Given the description of an element on the screen output the (x, y) to click on. 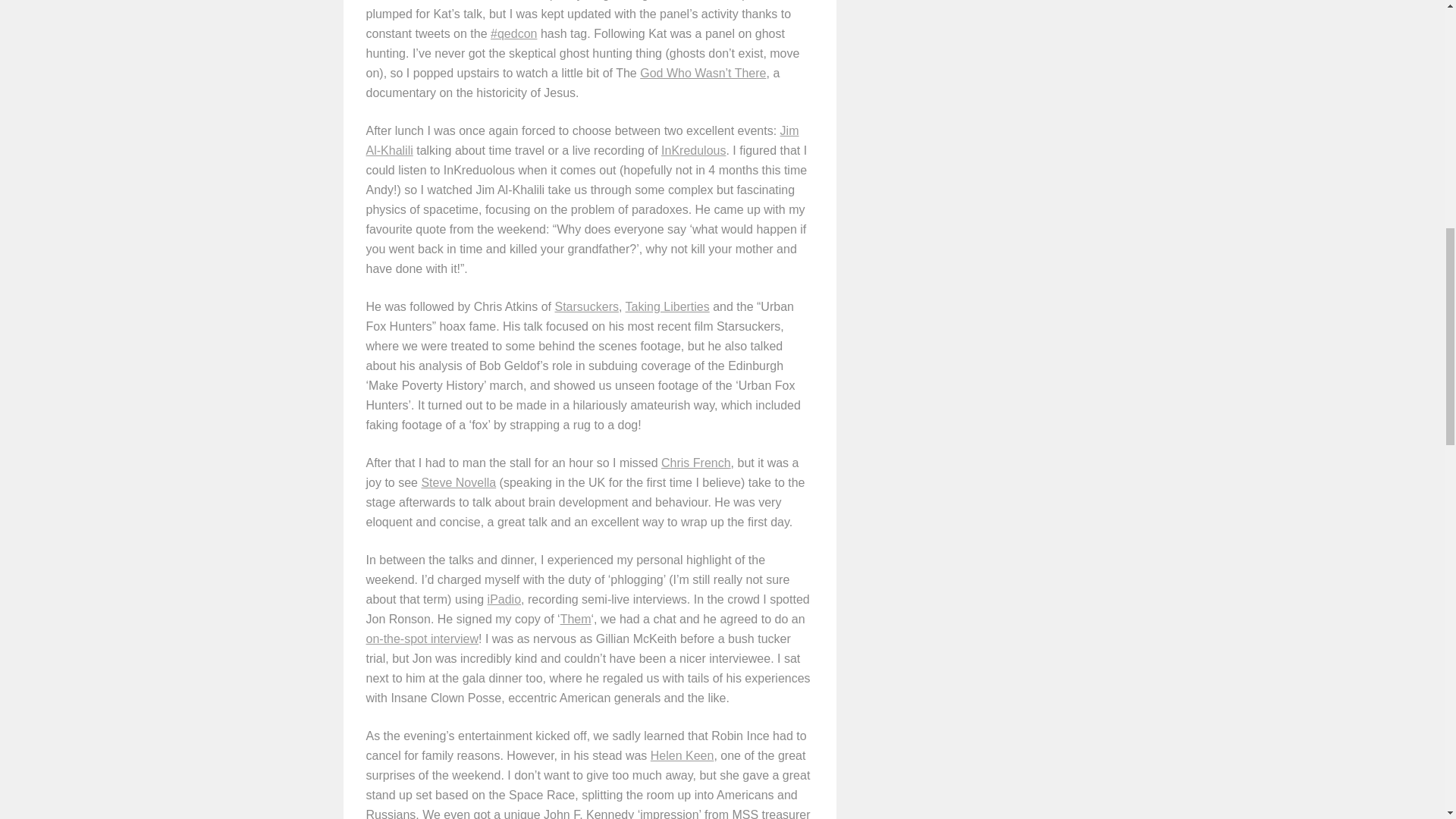
The God who wasn't there (702, 72)
Jim Al-Khalili (581, 140)
Steve Novella (458, 481)
Them (575, 618)
Helen Keen (682, 755)
InKredulous (693, 150)
Jim Al-Khalili (581, 140)
Chris French (695, 462)
iPadio (504, 599)
Taking Liberties (668, 306)
